Given the description of an element on the screen output the (x, y) to click on. 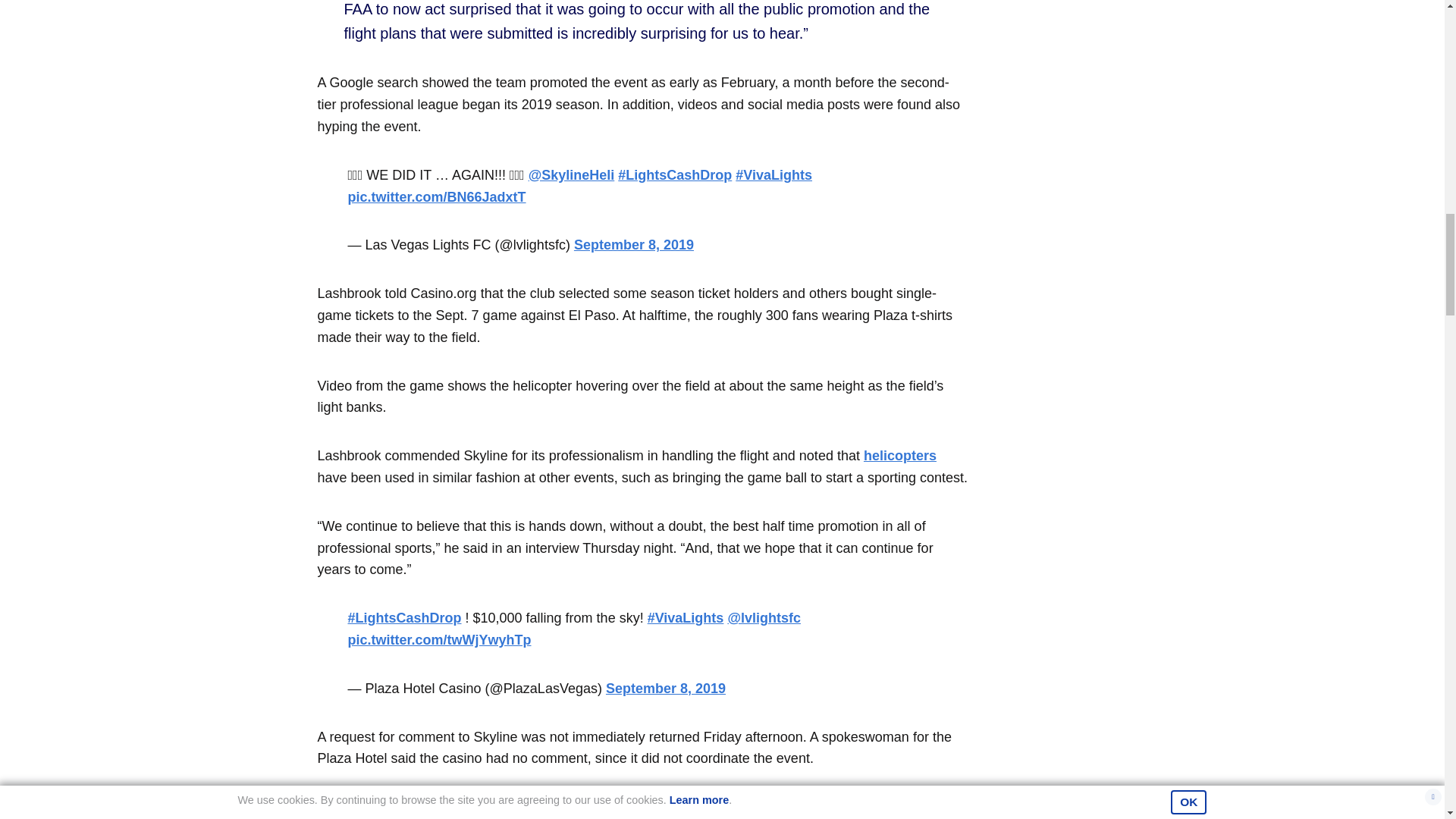
September 8, 2019 (633, 244)
September 8, 2019 (665, 688)
helicopters (899, 455)
